Given the description of an element on the screen output the (x, y) to click on. 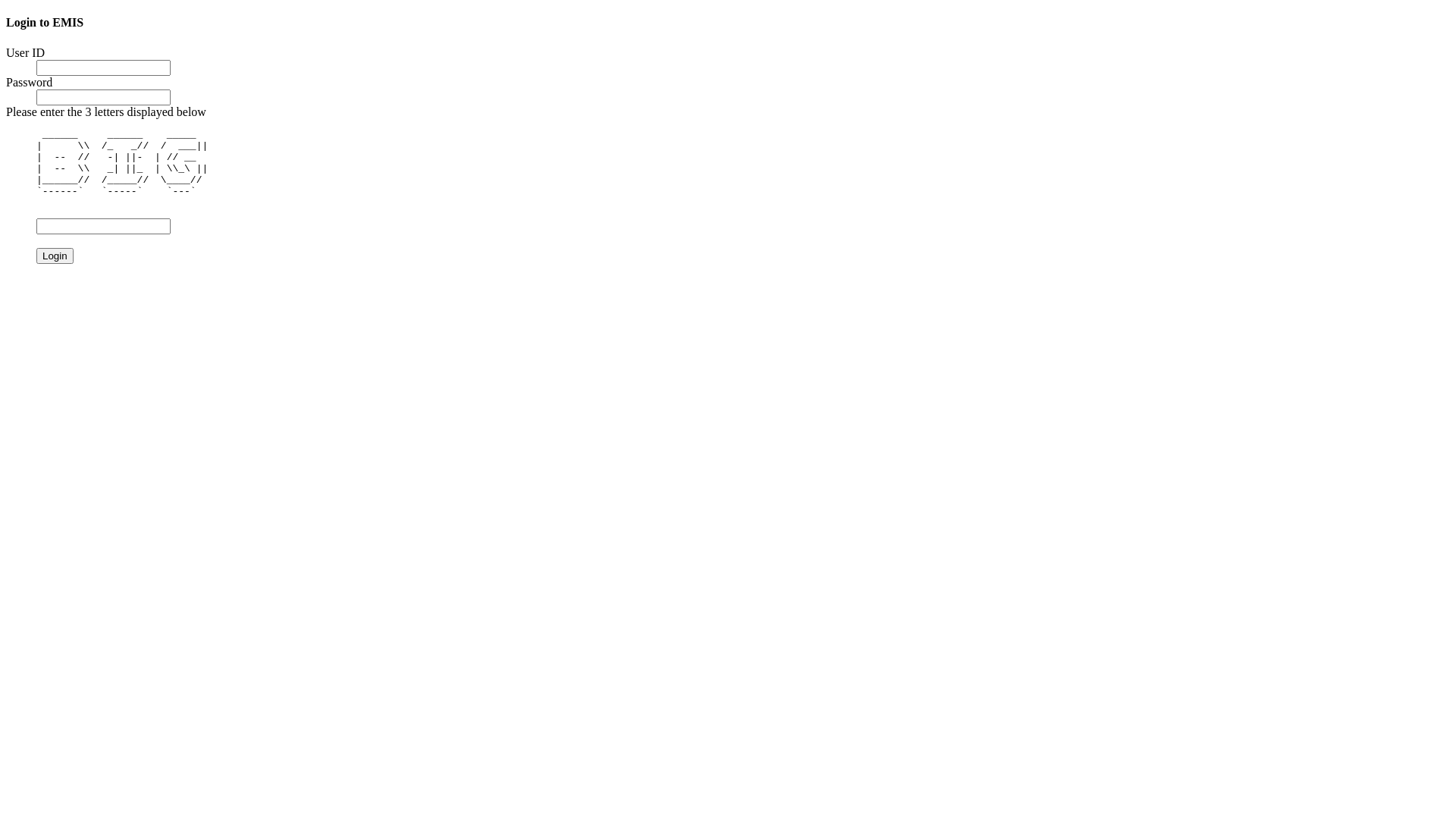
Login Element type: text (54, 255)
